Given the description of an element on the screen output the (x, y) to click on. 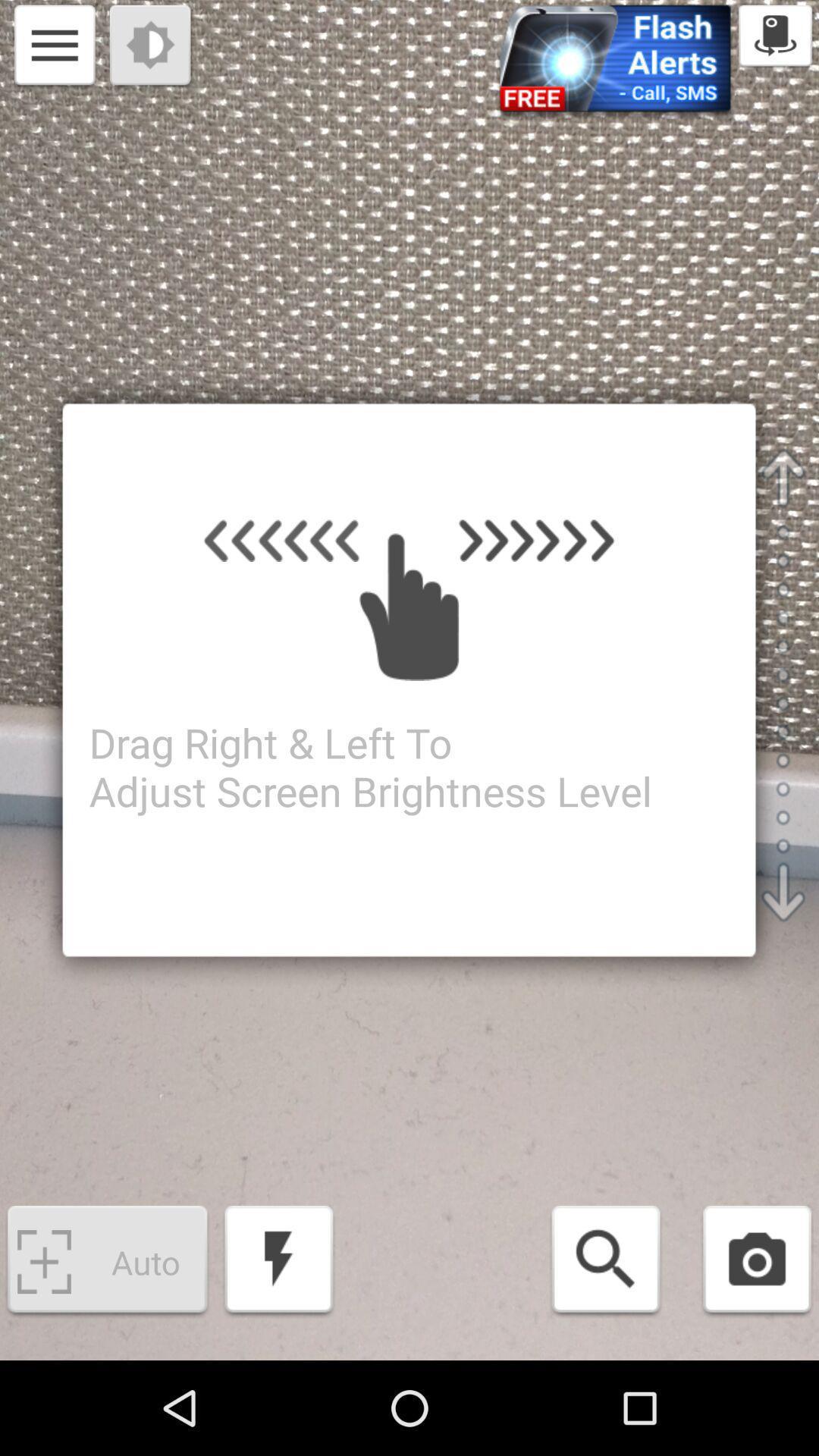
view flash-alerts option (615, 62)
